Given the description of an element on the screen output the (x, y) to click on. 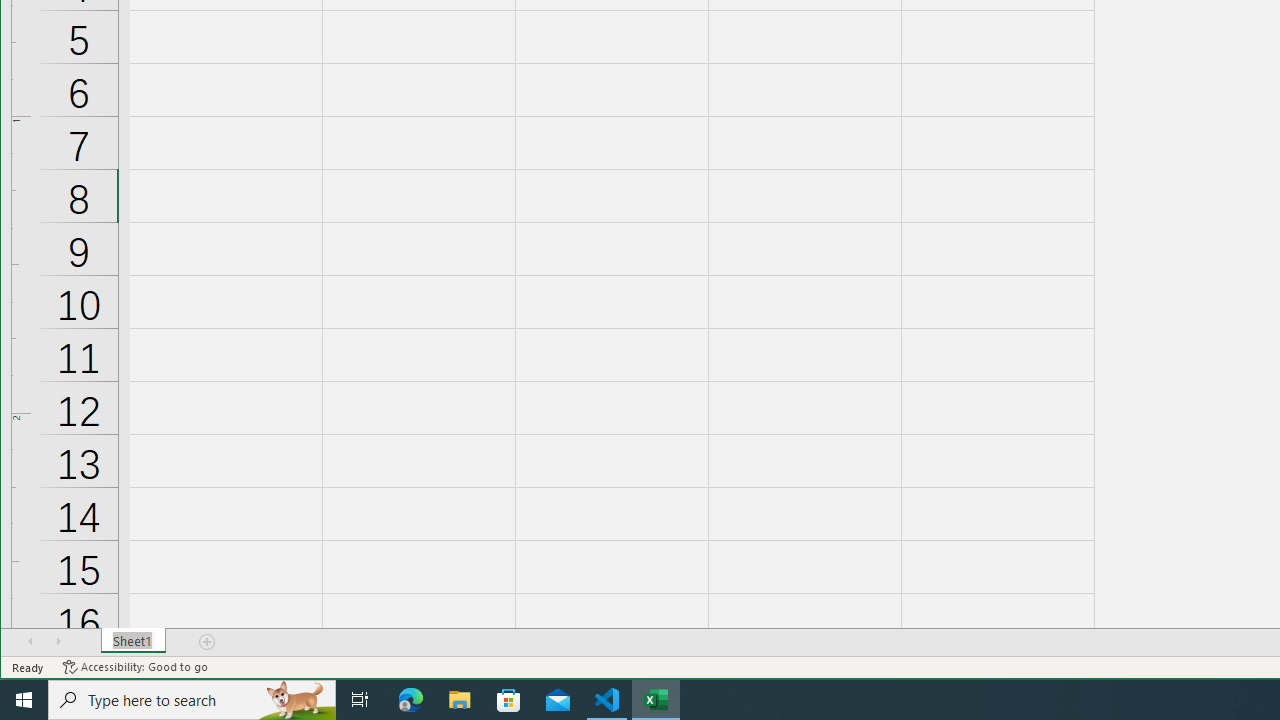
Start (24, 699)
Visual Studio Code - 1 running window (607, 699)
Microsoft Edge (411, 699)
Search highlights icon opens search home window (295, 699)
File Explorer (460, 699)
Task View (359, 699)
Type here to search (191, 699)
Microsoft Store (509, 699)
Sheet Tab (133, 641)
